Given the description of an element on the screen output the (x, y) to click on. 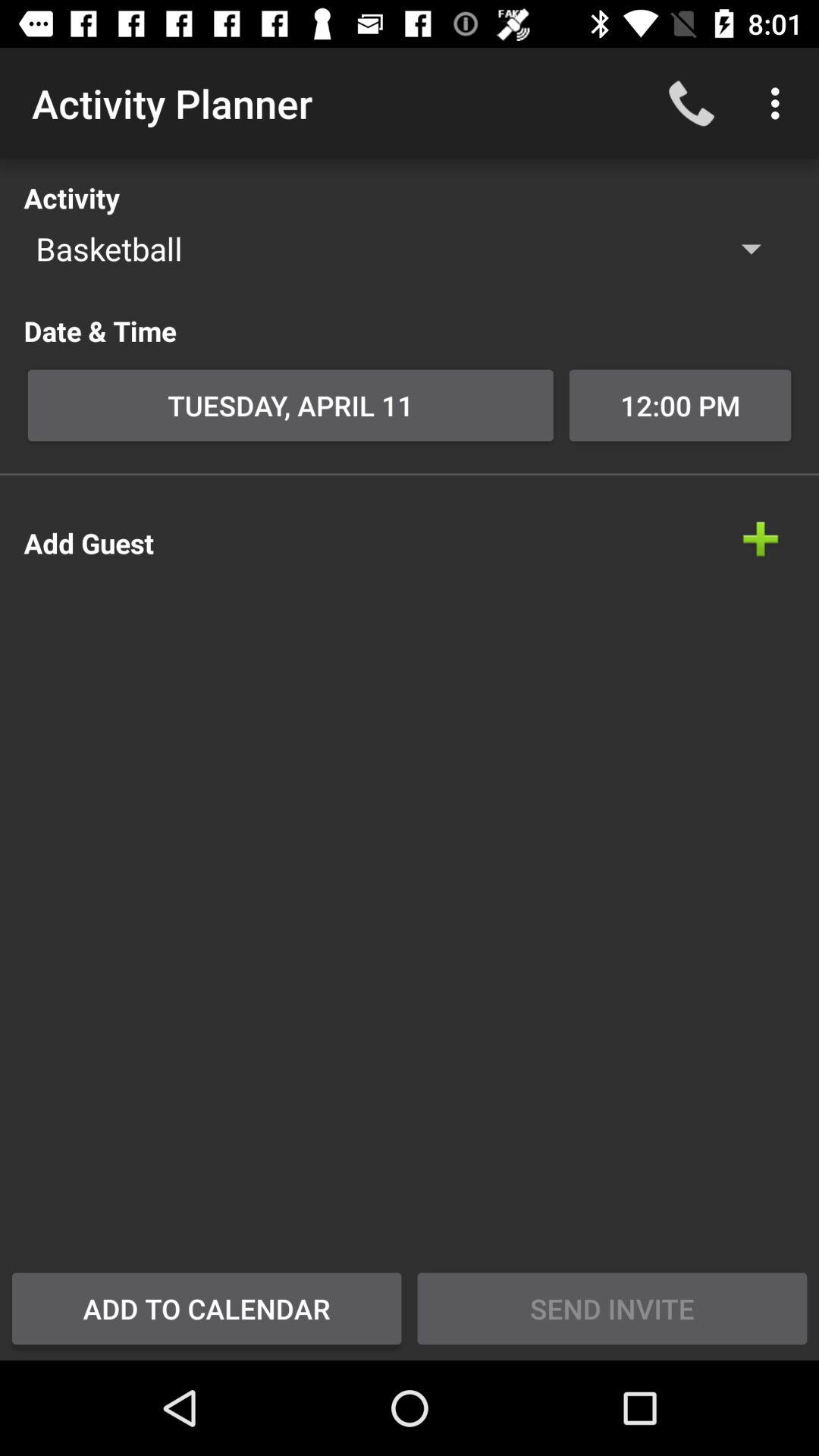
flip to 12:00 pm icon (680, 405)
